Given the description of an element on the screen output the (x, y) to click on. 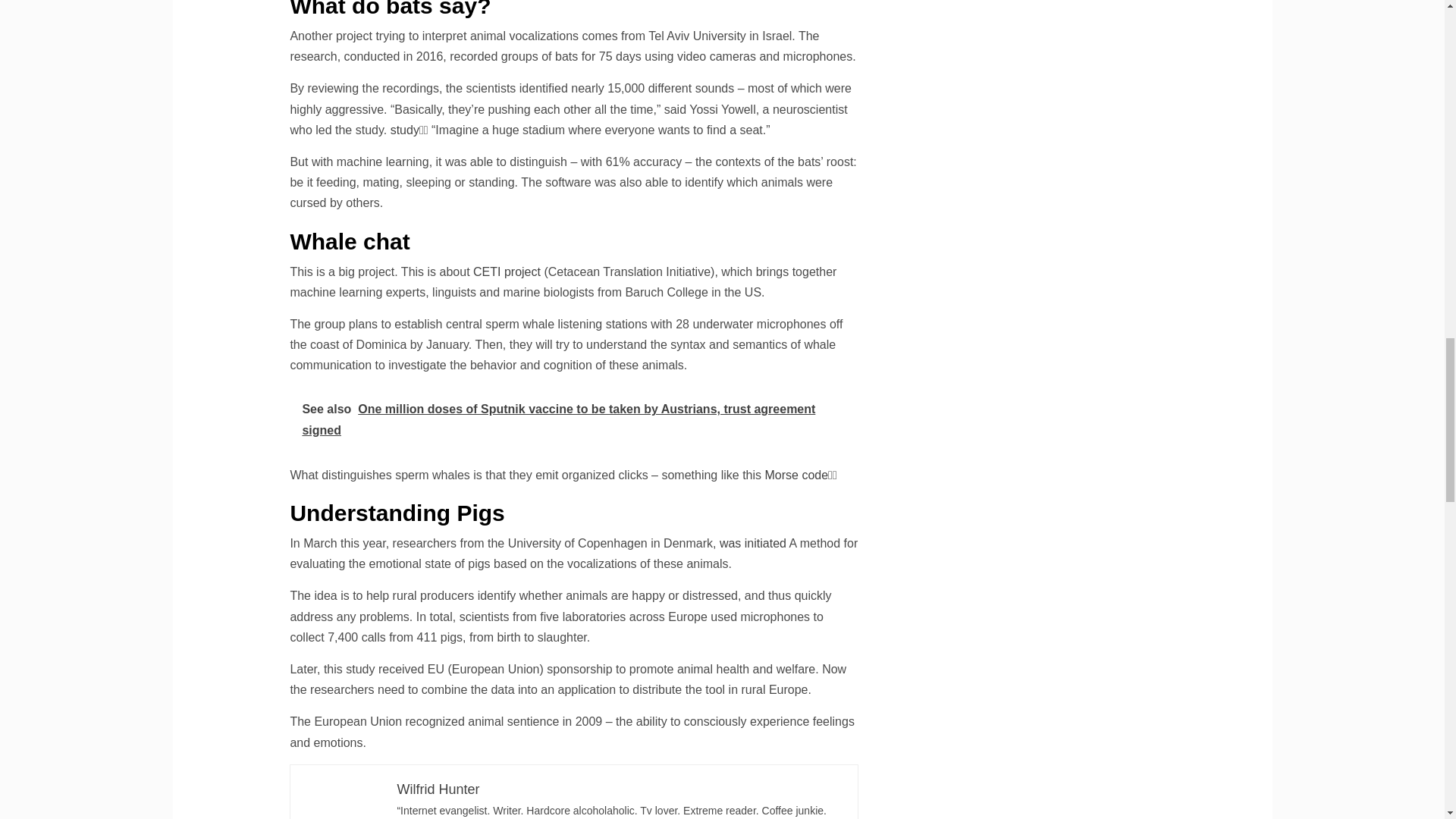
CETI project (506, 271)
study (404, 129)
Morse code (796, 474)
was initiated (752, 543)
